Given the description of an element on the screen output the (x, y) to click on. 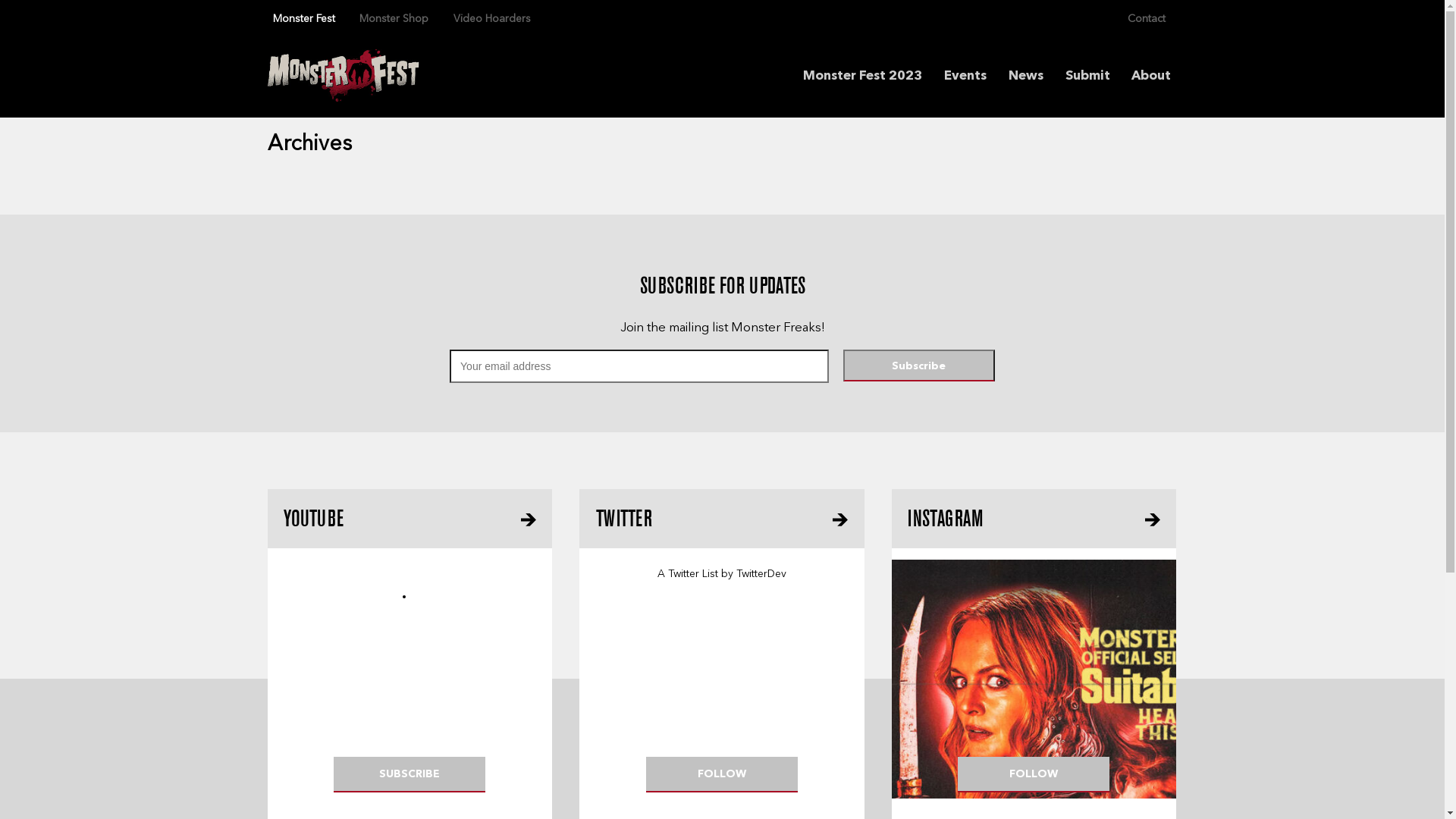
Monster Fest Element type: text (302, 19)
Submit Element type: text (1086, 79)
Subscribe Element type: text (918, 364)
FOLLOW Element type: text (721, 774)
News Element type: text (1025, 79)
About Element type: text (1150, 79)
Contact Element type: text (1146, 19)
FOLLOW Element type: text (1033, 774)
A Twitter List by TwitterDev Element type: text (721, 573)
Monster Fest 2023 Element type: text (862, 79)
SUBSCRIBE Element type: text (409, 774)
Monster Shop Element type: text (393, 19)
Video Hoarders Element type: text (492, 19)
YouTube video player Element type: hover (409, 652)
Events Element type: text (965, 79)
